Given the description of an element on the screen output the (x, y) to click on. 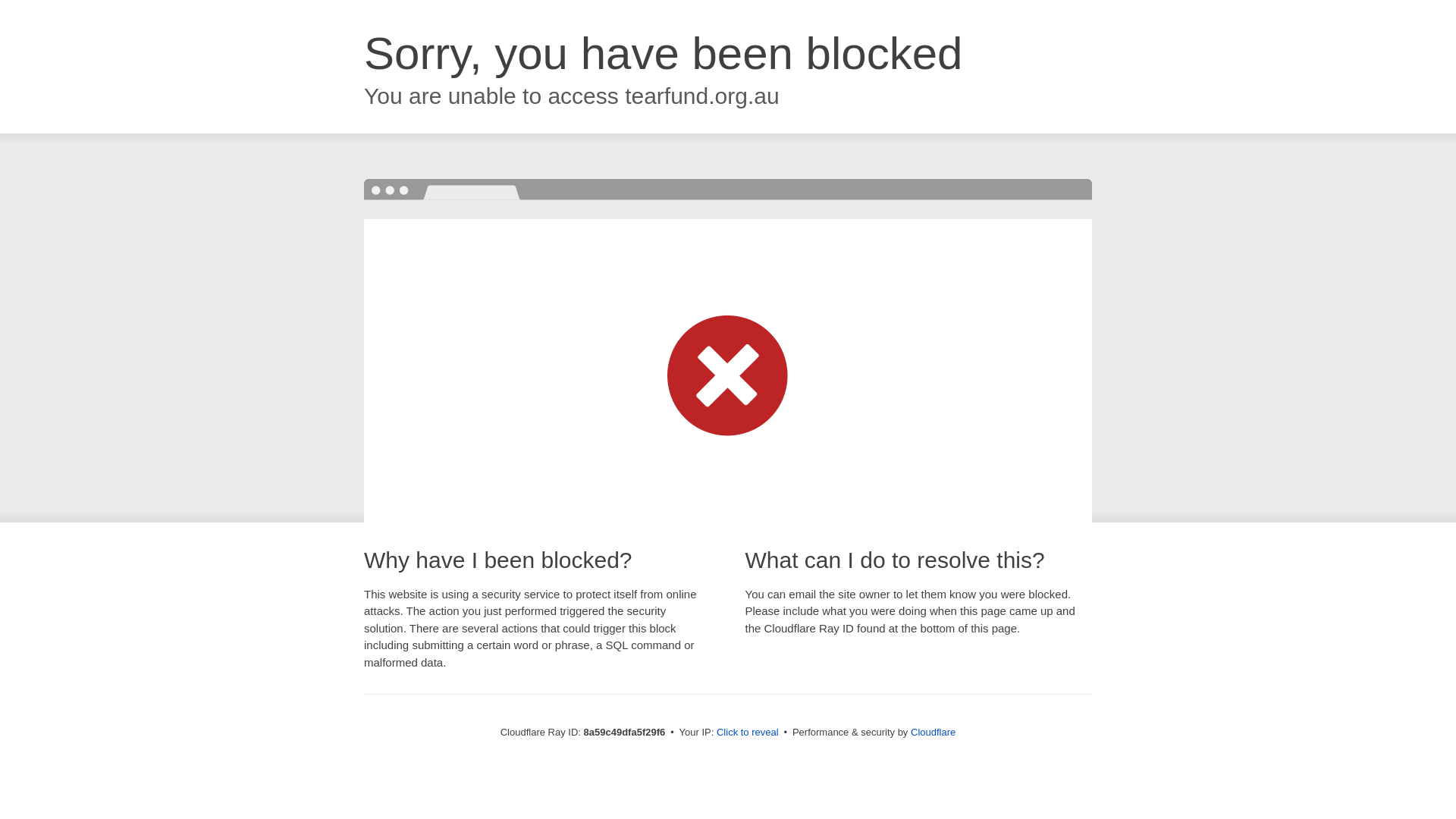
Click to reveal (747, 732)
Cloudflare (933, 731)
